Given the description of an element on the screen output the (x, y) to click on. 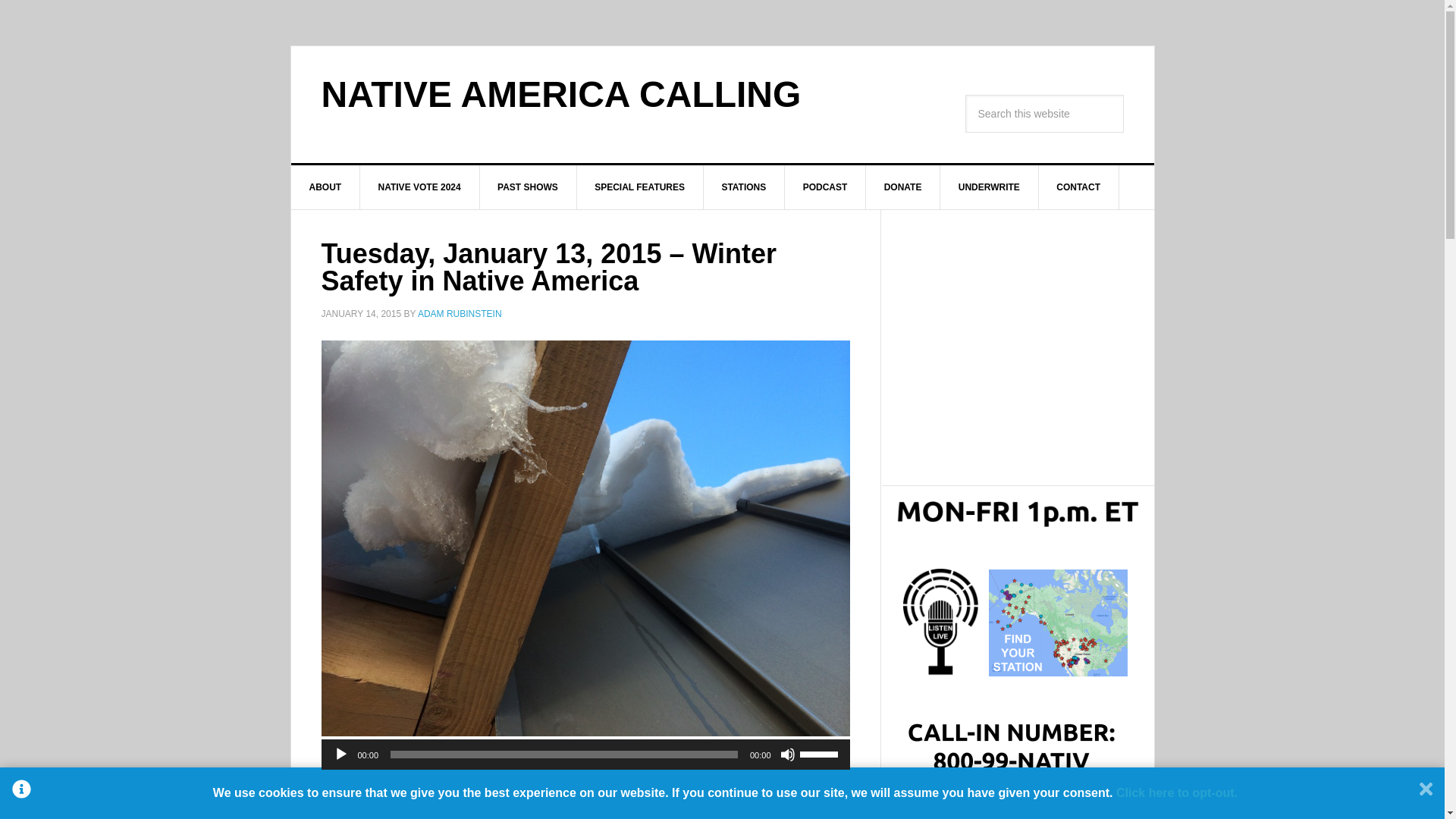
UNDERWRITE (989, 187)
DONATE (903, 187)
CONTACT (1078, 187)
PAST SHOWS (527, 187)
Download (514, 779)
Embed (623, 779)
Mute (786, 754)
ADAM RUBINSTEIN (459, 313)
Embed (623, 779)
ABOUT (326, 187)
Play (341, 754)
SPECIAL FEATURES (639, 187)
